Given the description of an element on the screen output the (x, y) to click on. 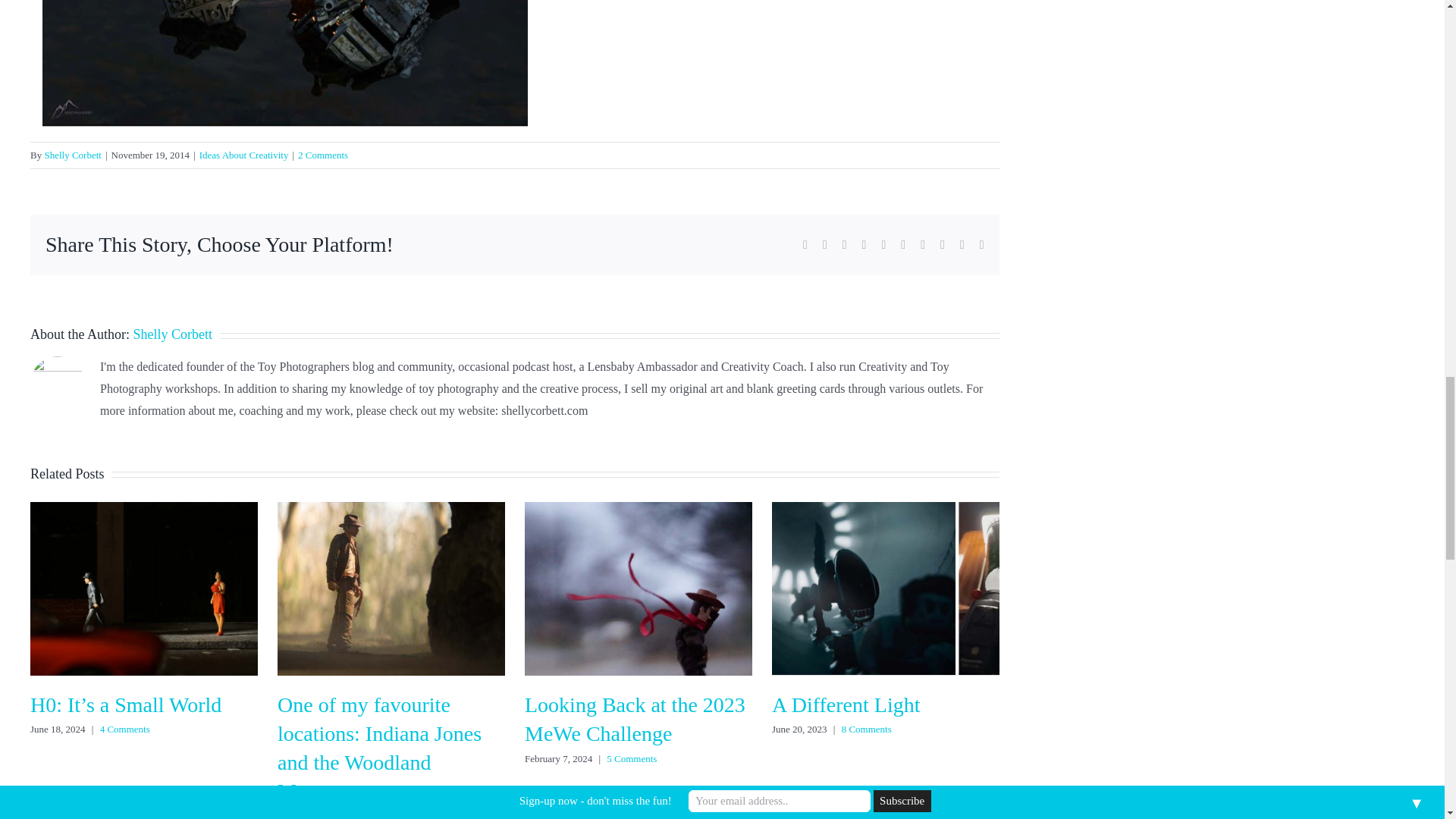
Posts by Shelly Corbett (71, 154)
